Given the description of an element on the screen output the (x, y) to click on. 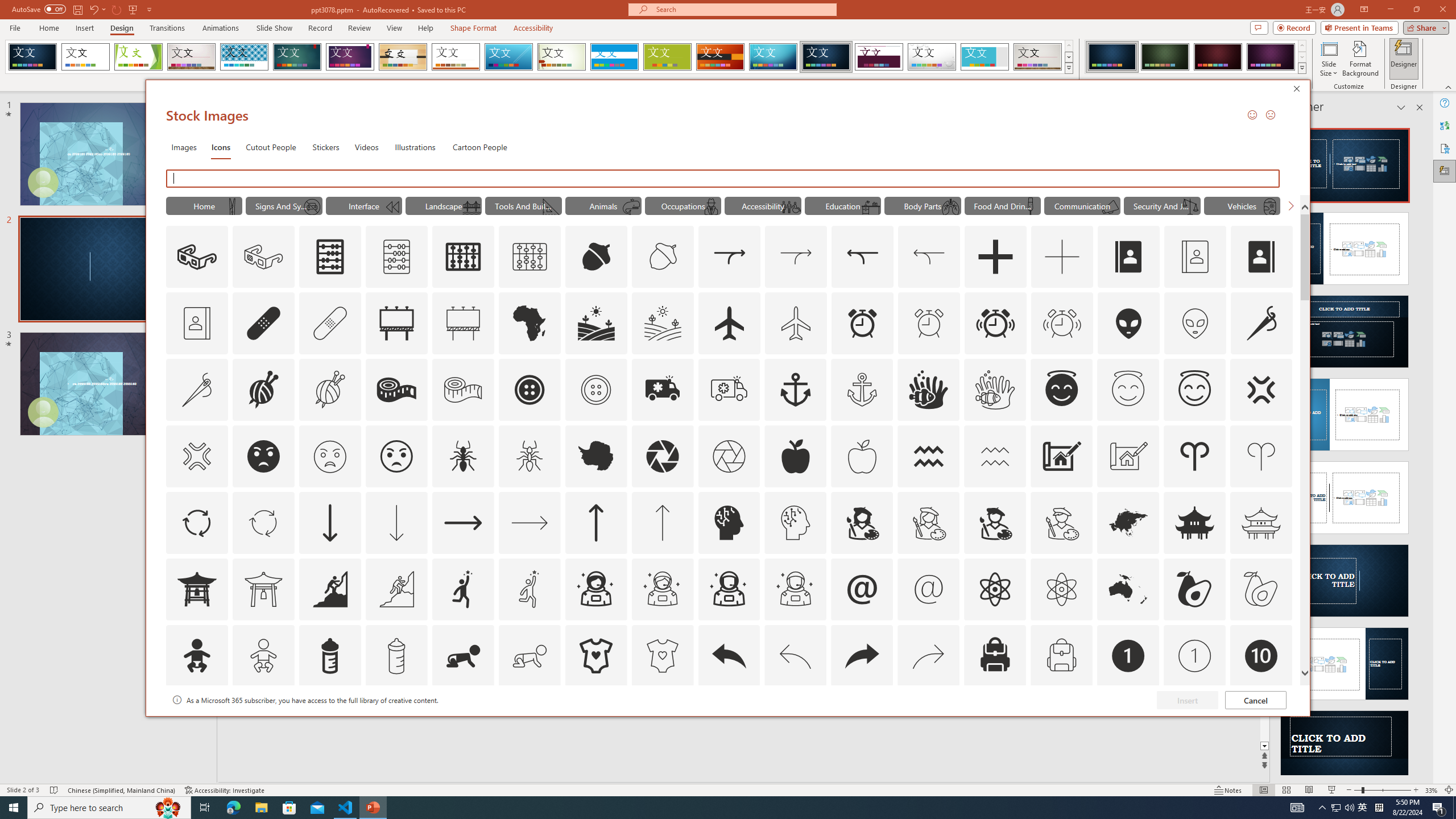
AutomationID: Icons_At_M (928, 588)
AutomationID: Icons_Aquarius_M (995, 455)
"Home" Icons. (203, 205)
AutomationID: Icons_AlarmRinging_M (1062, 323)
Cancel (1255, 700)
